Given the description of an element on the screen output the (x, y) to click on. 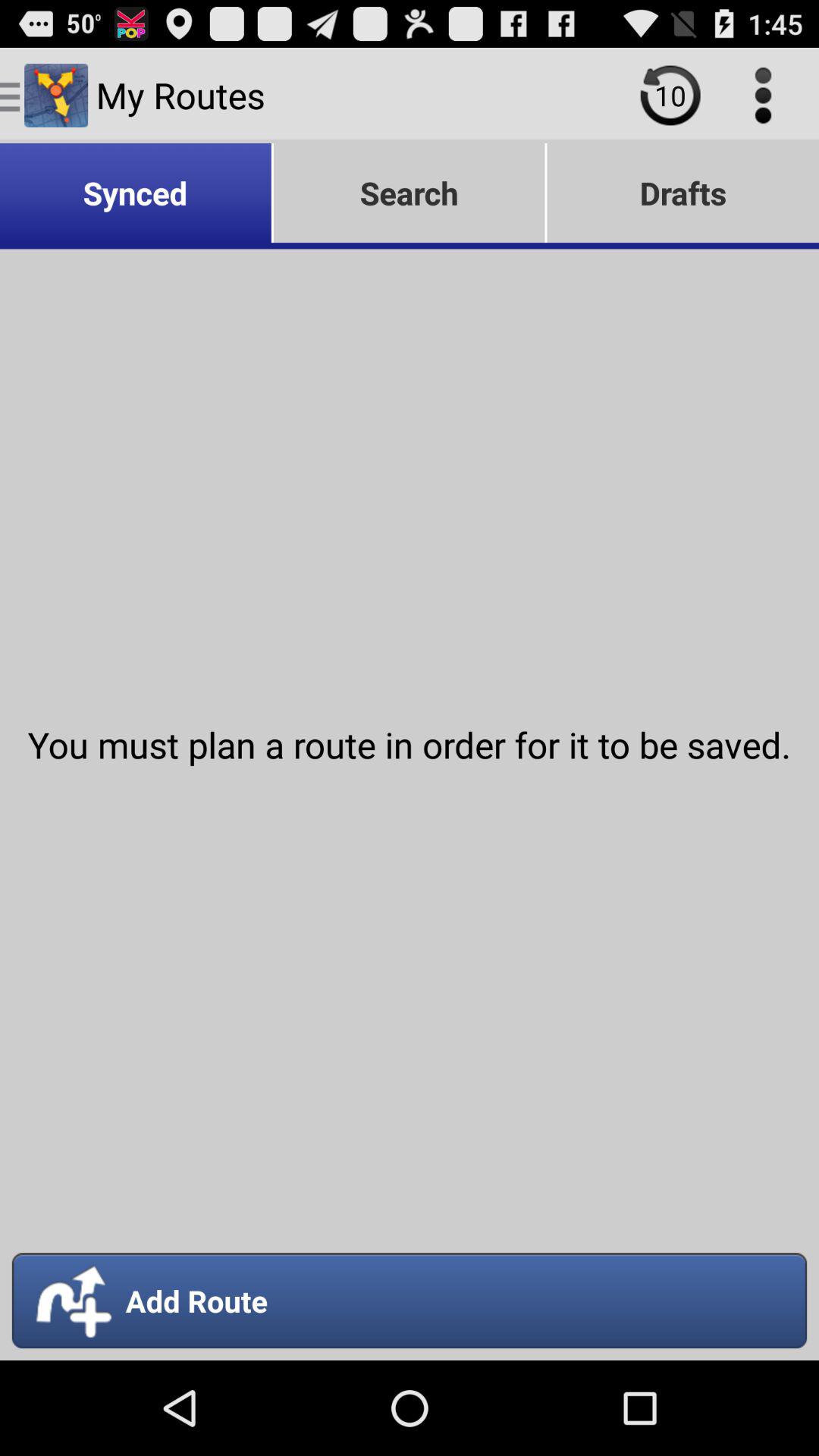
turn off item above the drafts icon (763, 95)
